Given the description of an element on the screen output the (x, y) to click on. 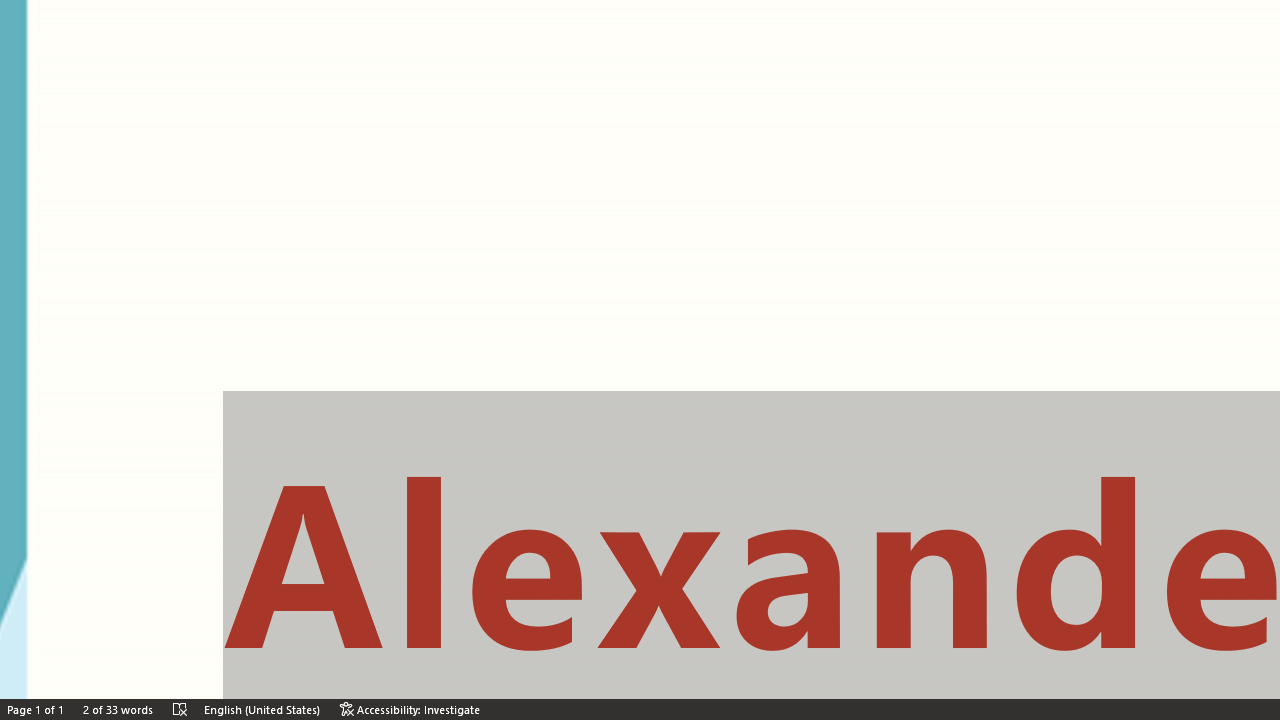
Column left (8, 649)
Page Number Page 1 of 1 (39, 668)
Page left (111, 649)
Spelling and Grammar Check No Errors (184, 668)
Word Count 2 of 33 words (122, 668)
